Given the description of an element on the screen output the (x, y) to click on. 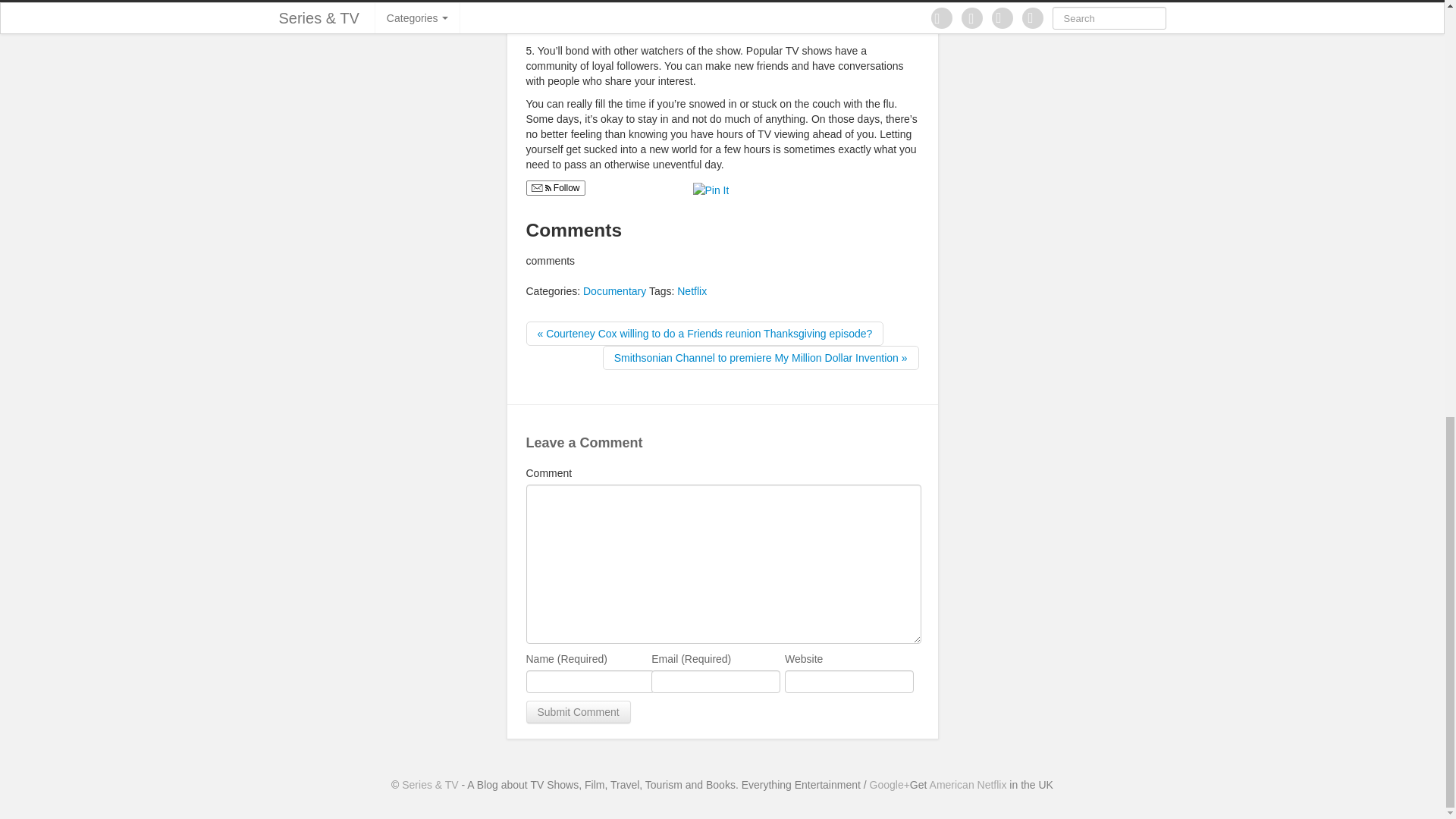
Submit Comment (577, 712)
Submit Comment (577, 712)
Share on Tumblr (791, 188)
Documentary (614, 291)
Netflix (691, 291)
Email, RSS (540, 189)
Share on Tumblr (791, 188)
Follow (555, 187)
Home (429, 784)
